Given the description of an element on the screen output the (x, y) to click on. 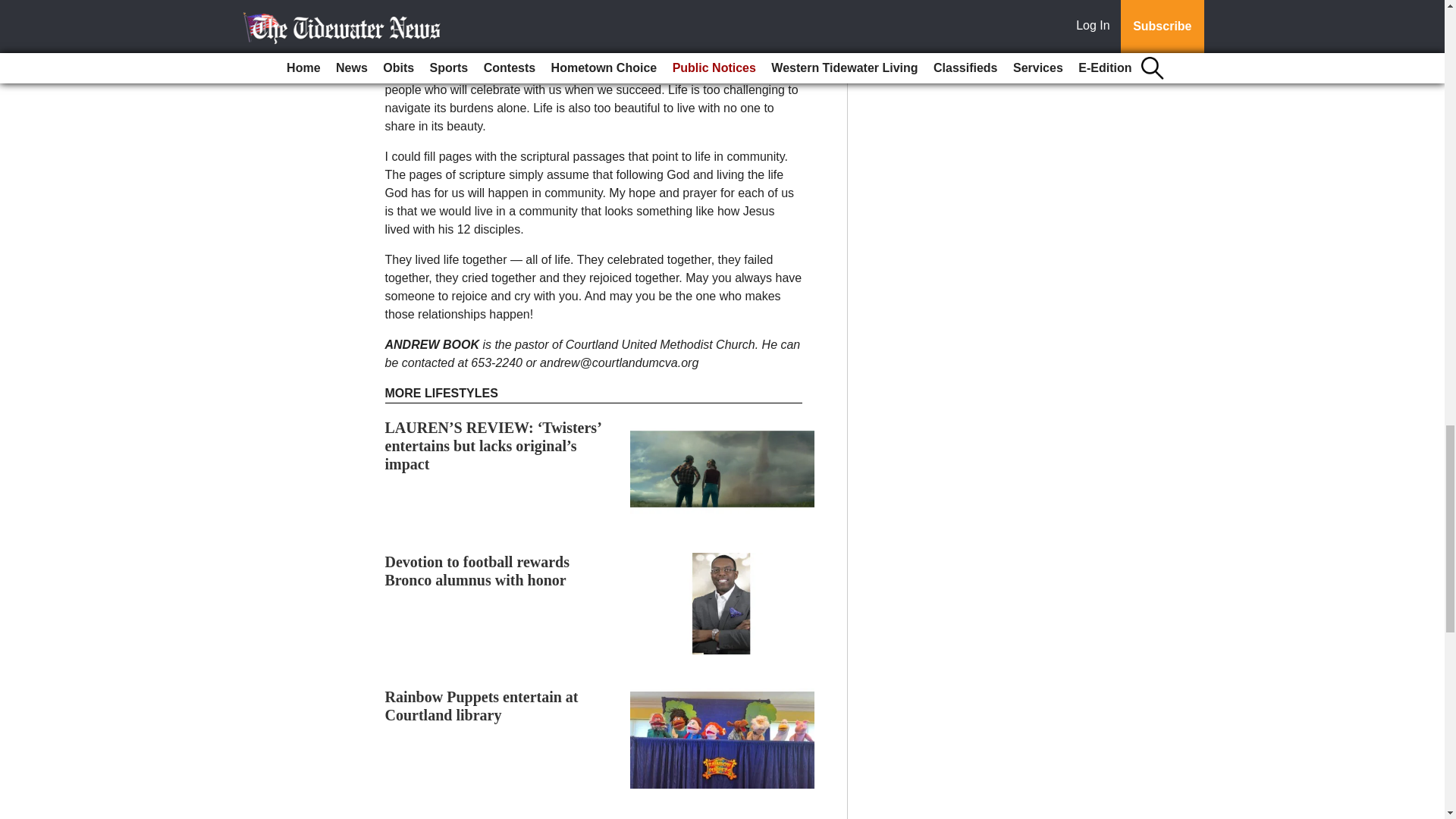
Devotion to football rewards Bronco alumnus with honor (477, 570)
Rainbow Puppets entertain at Courtland library (481, 705)
Devotion to football rewards Bronco alumnus with honor (477, 570)
